Given the description of an element on the screen output the (x, y) to click on. 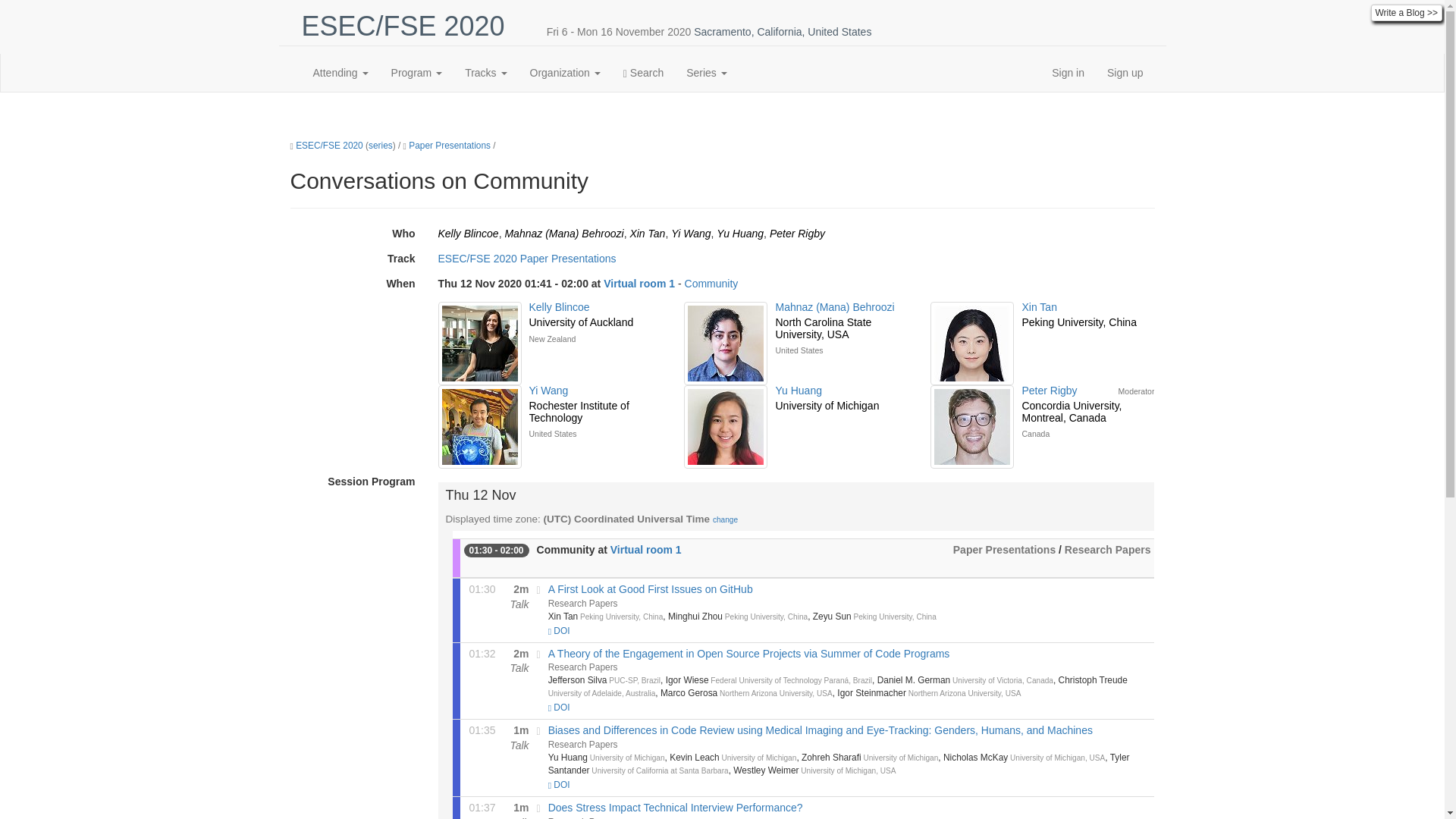
Program (417, 72)
Tracks (485, 72)
Attending (340, 72)
Sacramento, California, United States (782, 31)
